Given the description of an element on the screen output the (x, y) to click on. 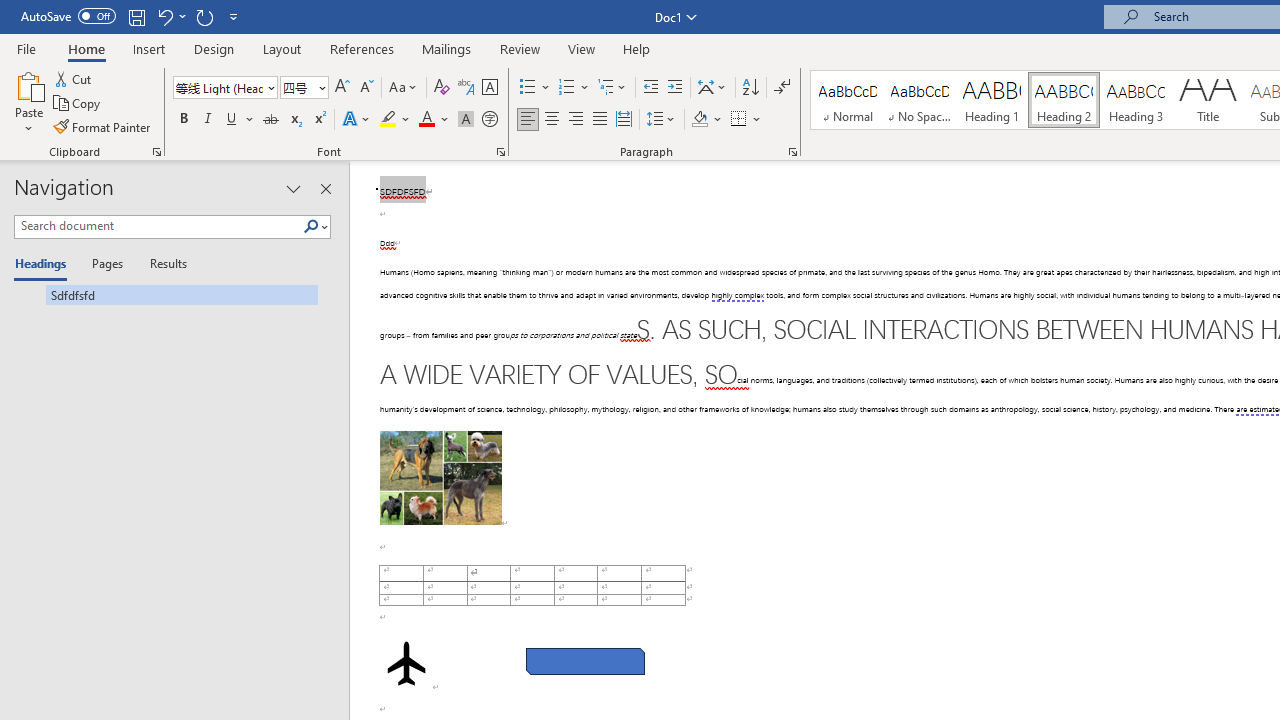
Font Color Red (426, 119)
